Given the description of an element on the screen output the (x, y) to click on. 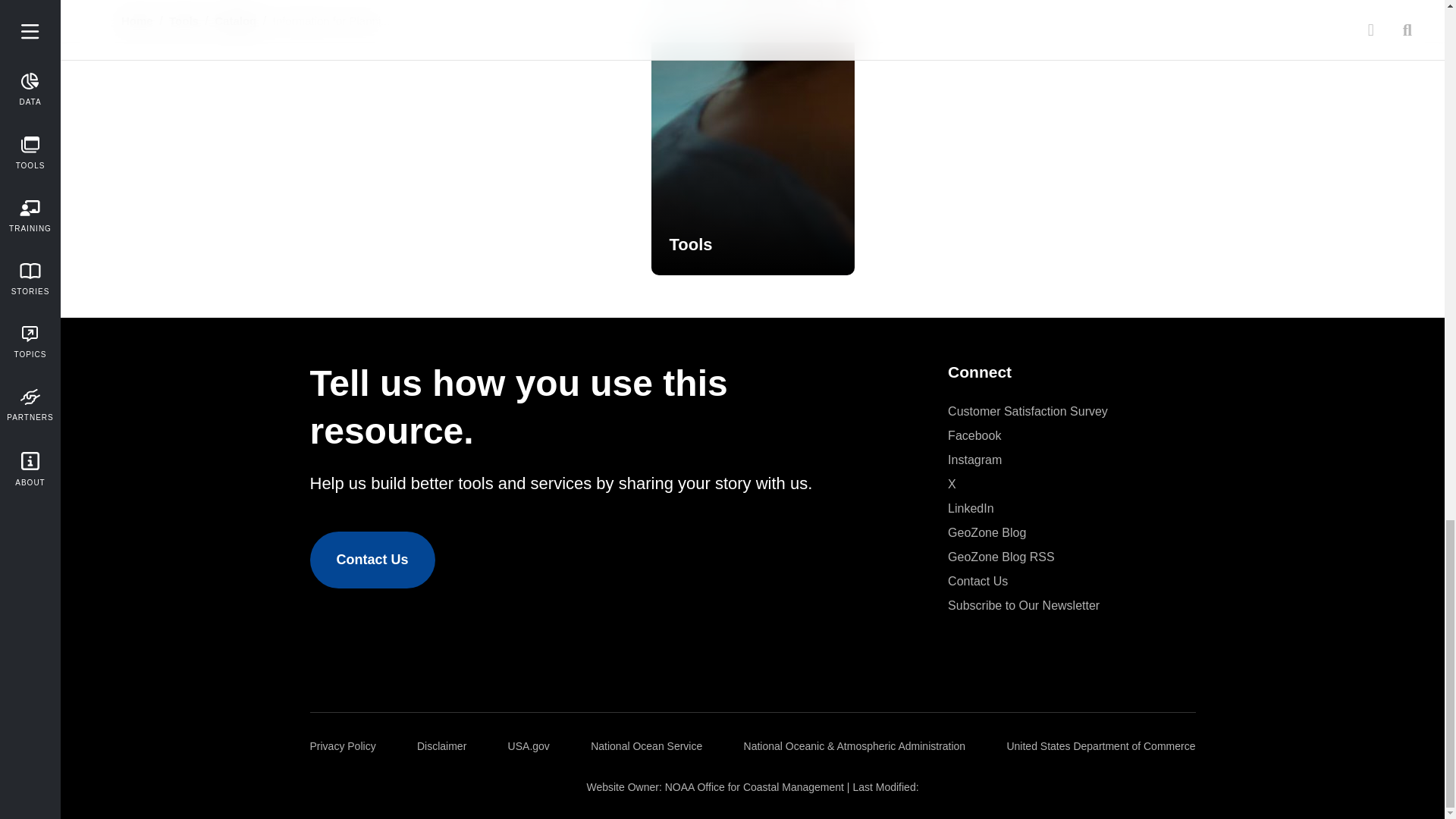
Customer Satisfaction Survey (1027, 411)
Instagram (974, 460)
Contact Us (370, 559)
NOAA Office for Coastal Management on Facebook (974, 435)
Customer Satisfaction Survey (1027, 411)
Facebook (974, 435)
